Given the description of an element on the screen output the (x, y) to click on. 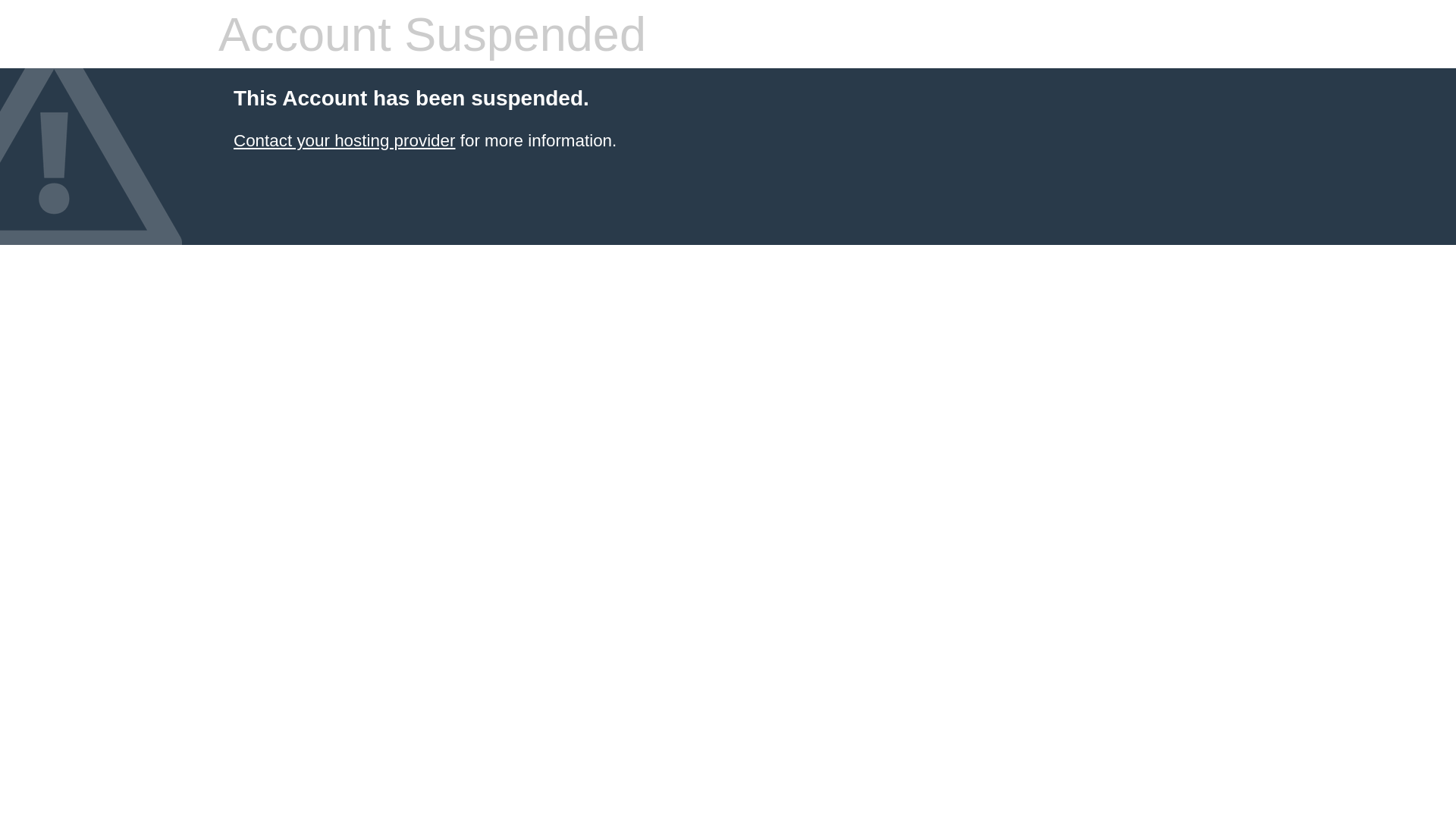
Contact your hosting provider Element type: text (344, 140)
